Given the description of an element on the screen output the (x, y) to click on. 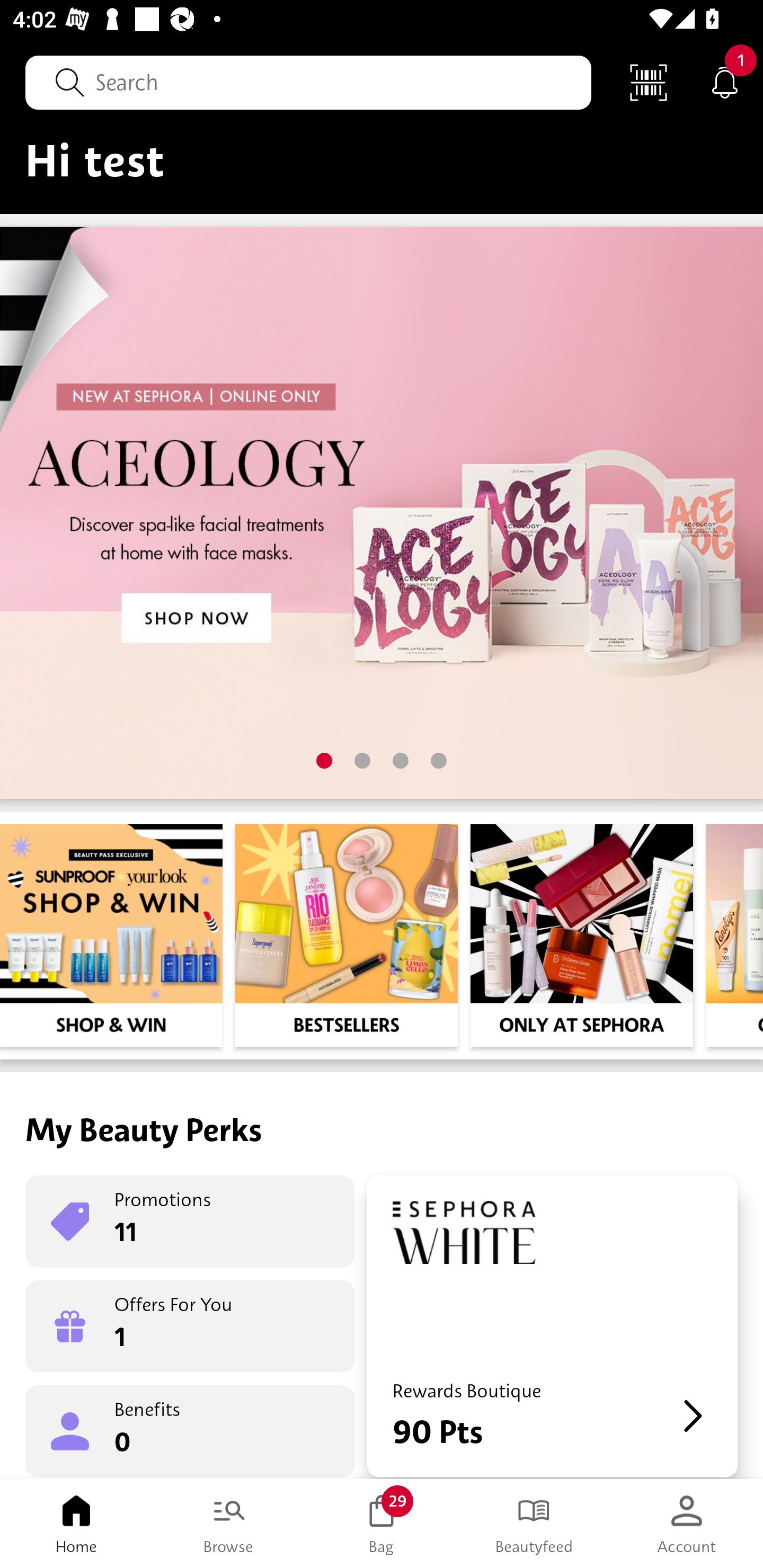
Scan Code (648, 81)
Notifications (724, 81)
Search (308, 81)
Promotions 11 (189, 1221)
Rewards Boutique 90 Pts (552, 1326)
Offers For You 1 (189, 1326)
Benefits 0 (189, 1430)
Browse (228, 1523)
Bag 29 Bag (381, 1523)
Beautyfeed (533, 1523)
Account (686, 1523)
